Given the description of an element on the screen output the (x, y) to click on. 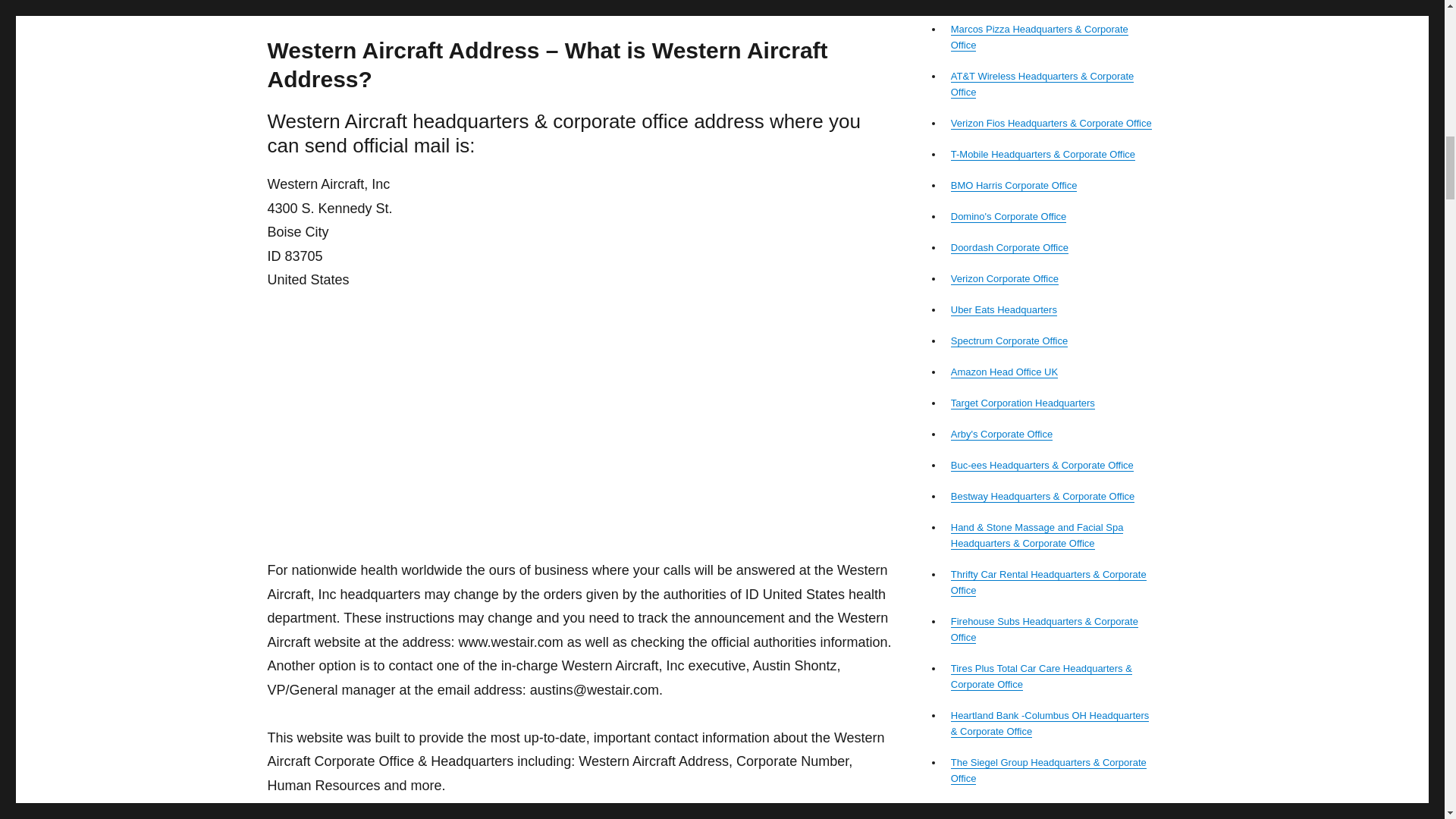
Domino's Corporate Office (1008, 215)
BMO Harris Corporate Office (1013, 184)
Doordash Corporate Office (1009, 247)
